Given the description of an element on the screen output the (x, y) to click on. 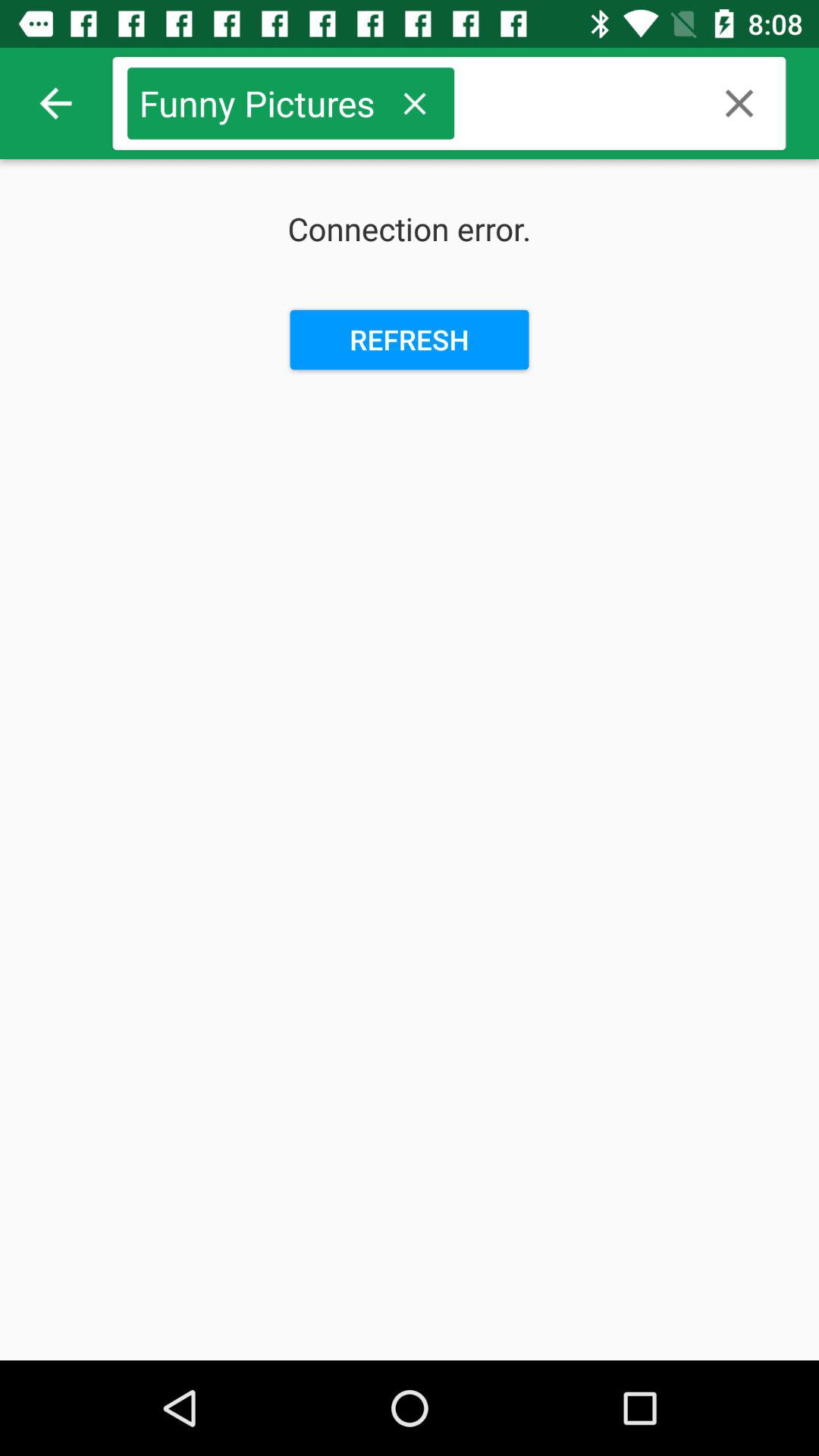
close this option (414, 103)
